Given the description of an element on the screen output the (x, y) to click on. 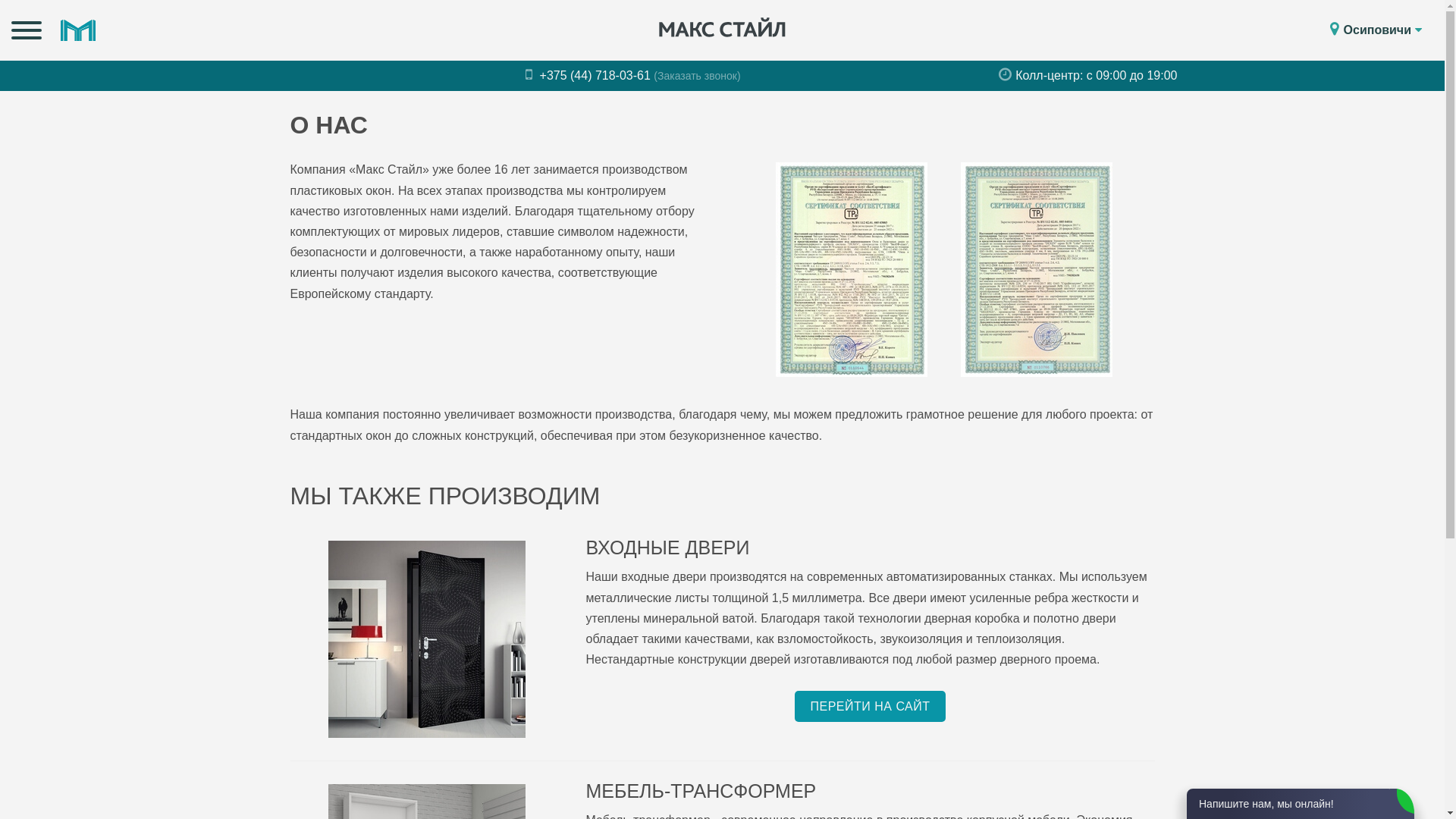
+375 (44) 718-03-61 Element type: text (589, 75)
